Given the description of an element on the screen output the (x, y) to click on. 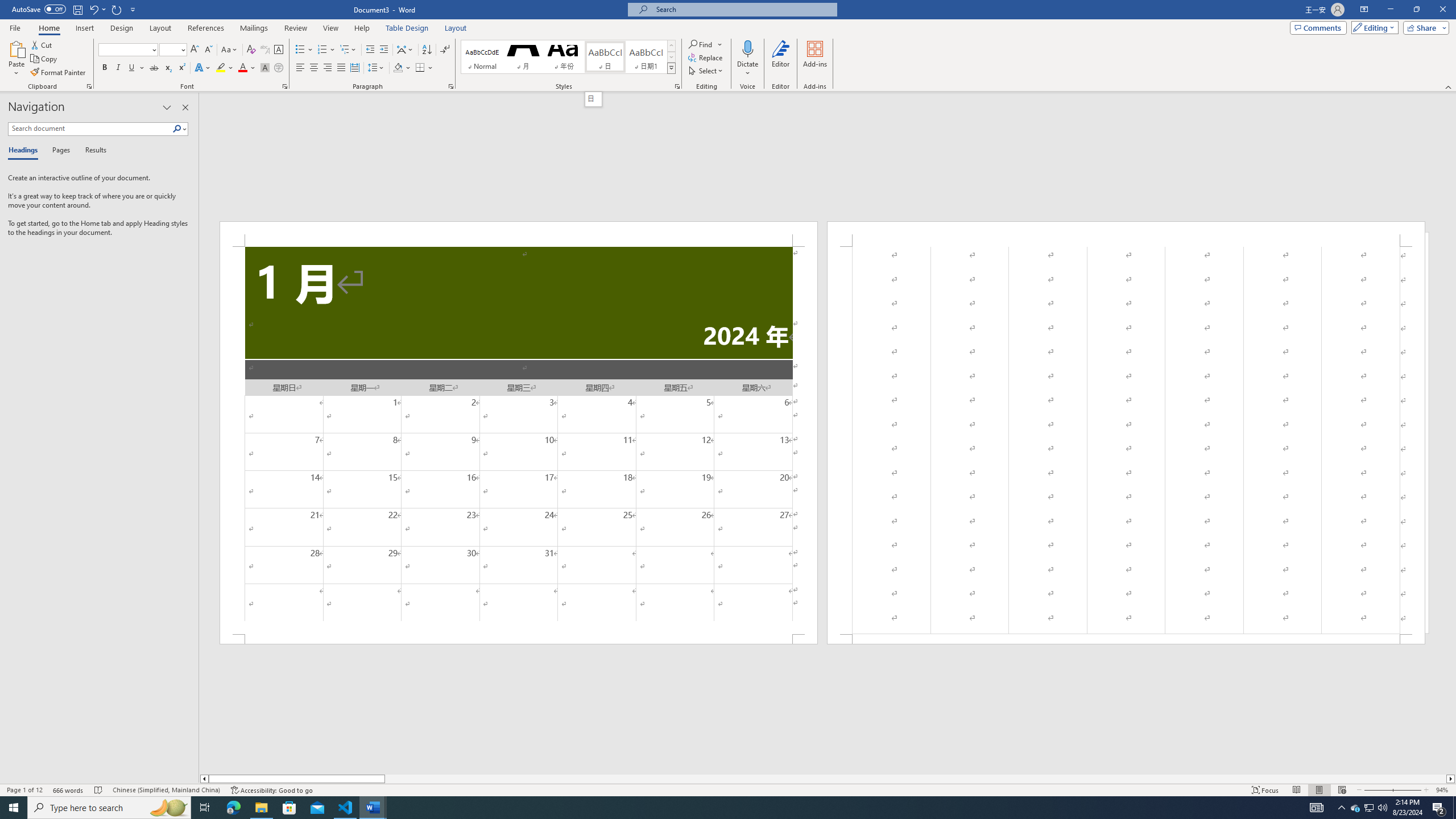
Column right (1450, 778)
Row up (670, 45)
Format Painter (58, 72)
Pages (59, 150)
Minimize (1390, 9)
Collapse the Ribbon (1448, 86)
Mailings (253, 28)
Focus  (1265, 790)
Print Layout (1318, 790)
Accessibility Checker Accessibility: Good to go (271, 790)
Grow Font (193, 49)
Search (177, 128)
Page right (914, 778)
Zoom Out (1377, 790)
